Given the description of an element on the screen output the (x, y) to click on. 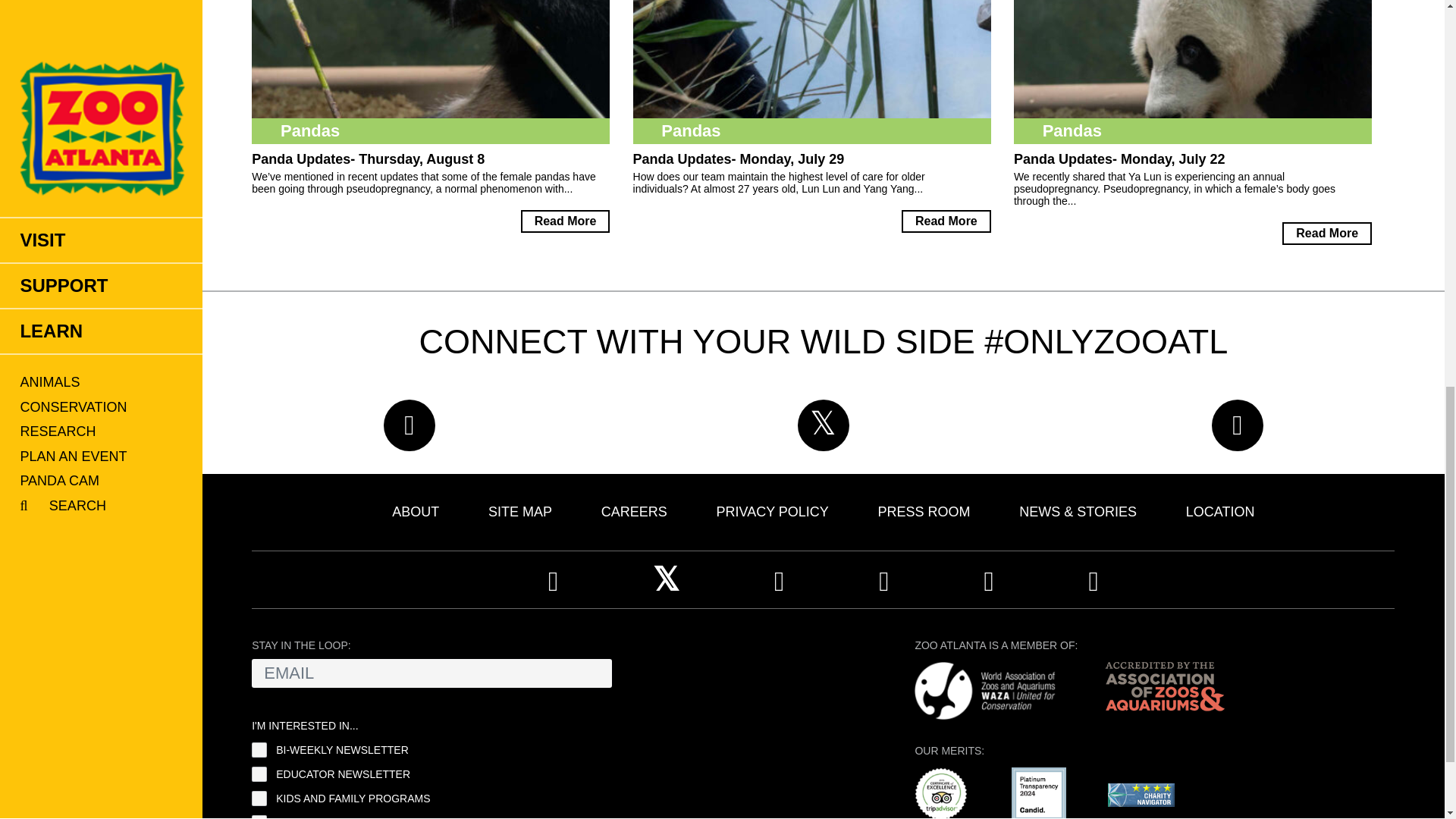
Kids and Family Programs (258, 798)
Bi-weekly Newsletter (258, 749)
Educator Newsletter (258, 774)
Over 21 Events (258, 816)
